Given the description of an element on the screen output the (x, y) to click on. 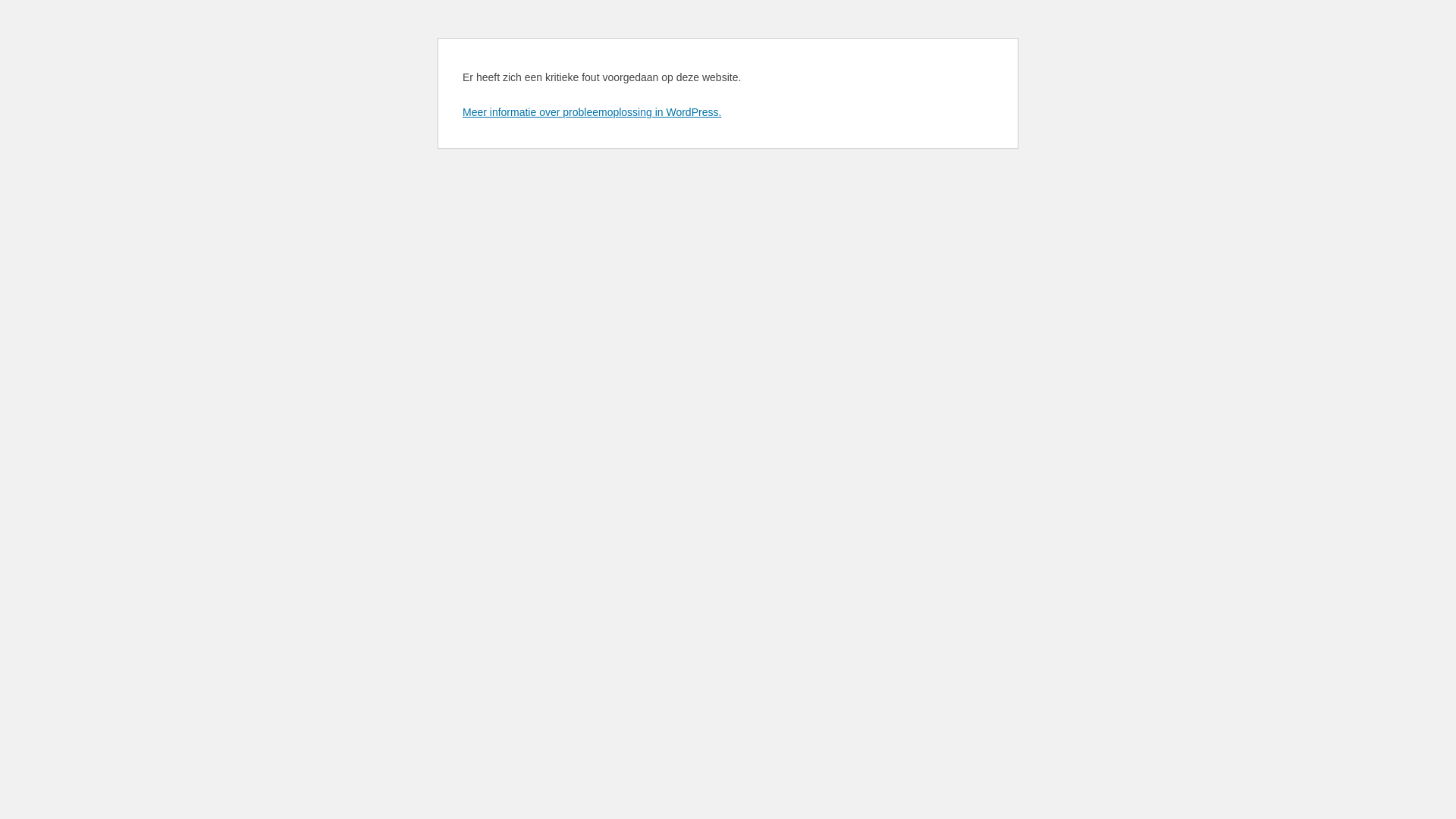
Meer informatie over probleemoplossing in WordPress. Element type: text (591, 112)
